Given the description of an element on the screen output the (x, y) to click on. 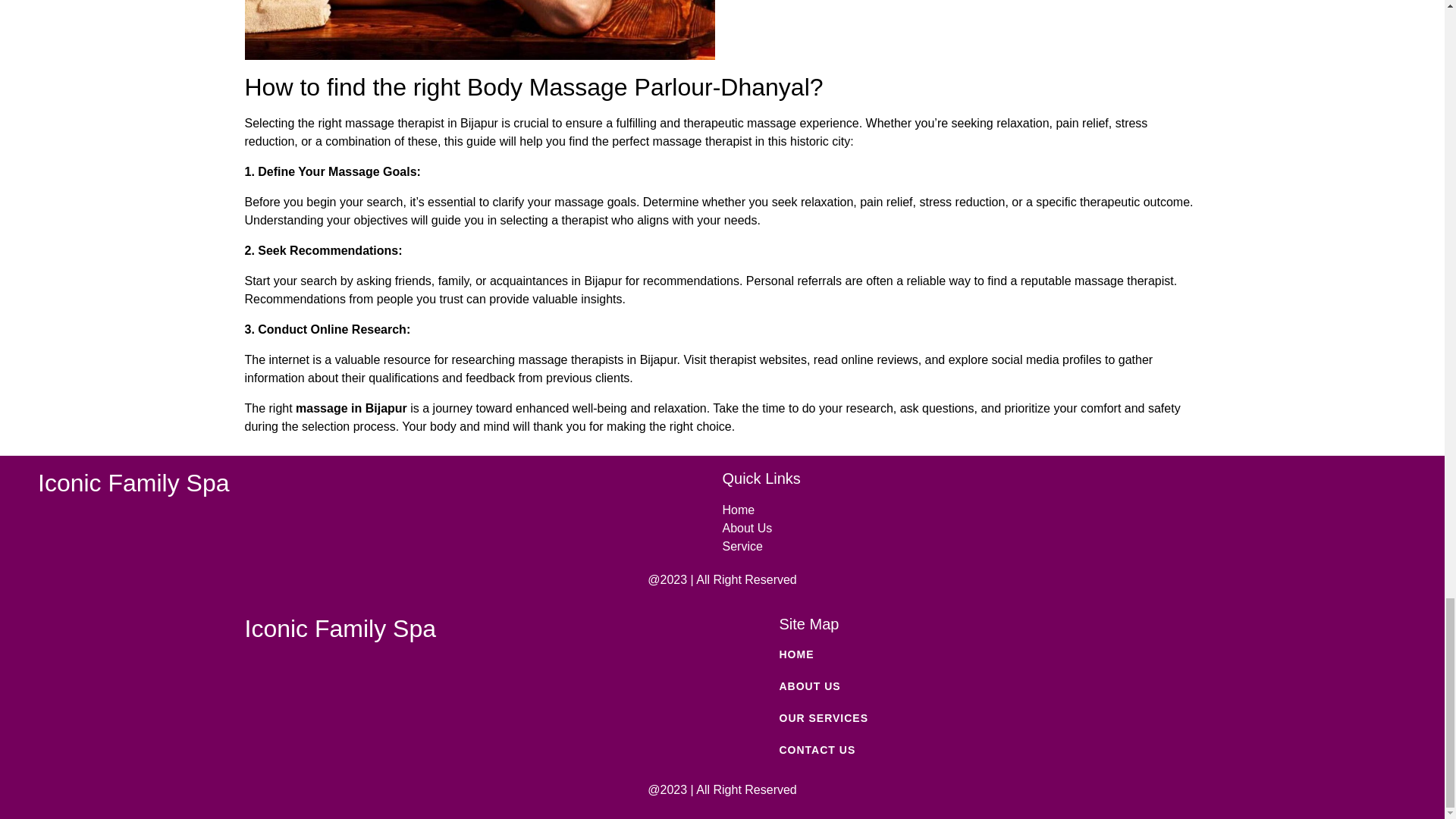
Iconic Family Spa (339, 628)
Service (1064, 546)
CONTACT US (977, 750)
ABOUT US (977, 686)
Home (1064, 510)
About Us (1064, 528)
OUR SERVICES (977, 718)
HOME (977, 654)
